Given the description of an element on the screen output the (x, y) to click on. 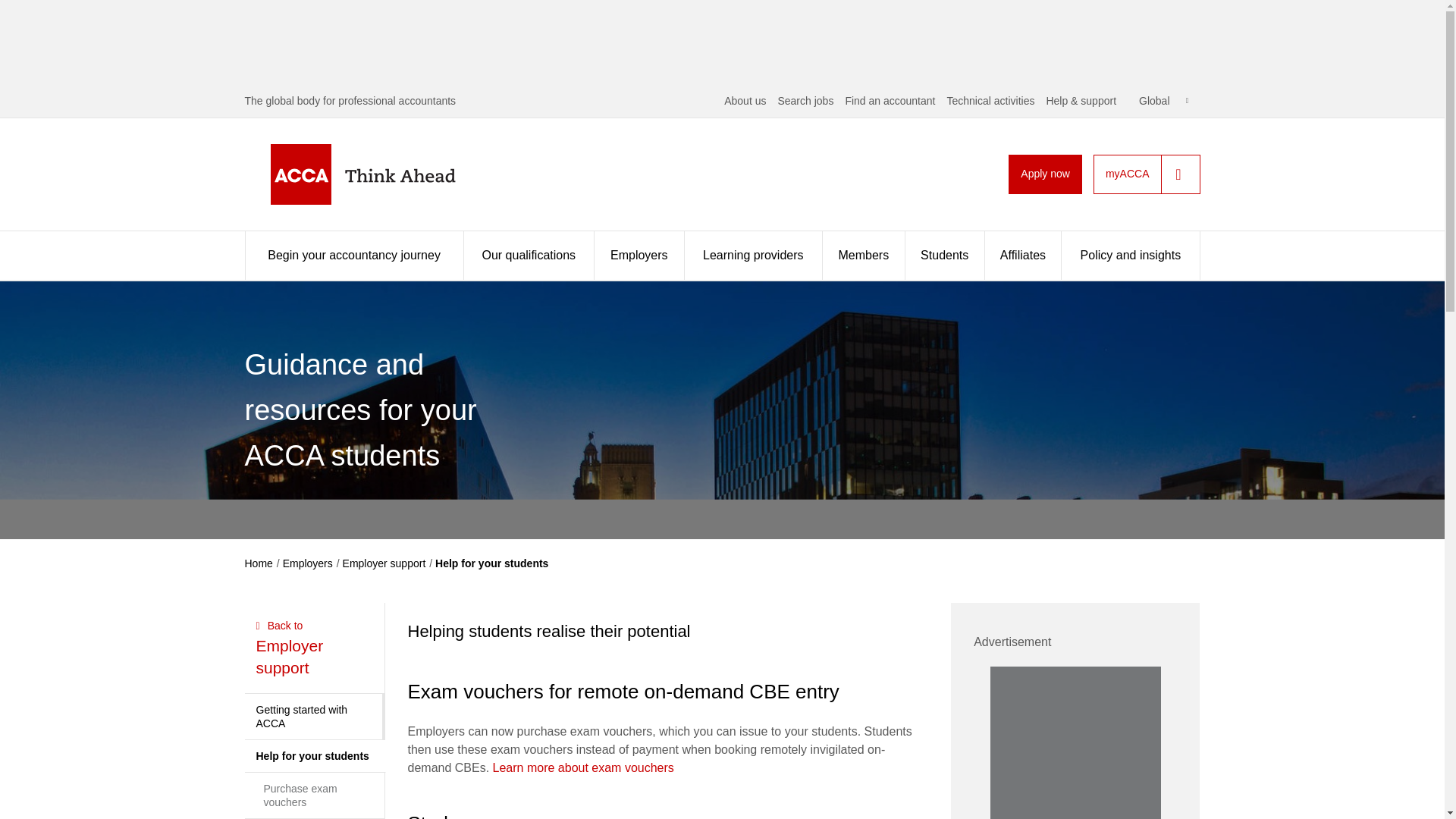
Find an accountant (889, 101)
About us (744, 101)
Global (1162, 100)
Technical activities (989, 101)
ACCA - Think Ahead (387, 174)
Search jobs (804, 101)
Global (1162, 100)
